Given the description of an element on the screen output the (x, y) to click on. 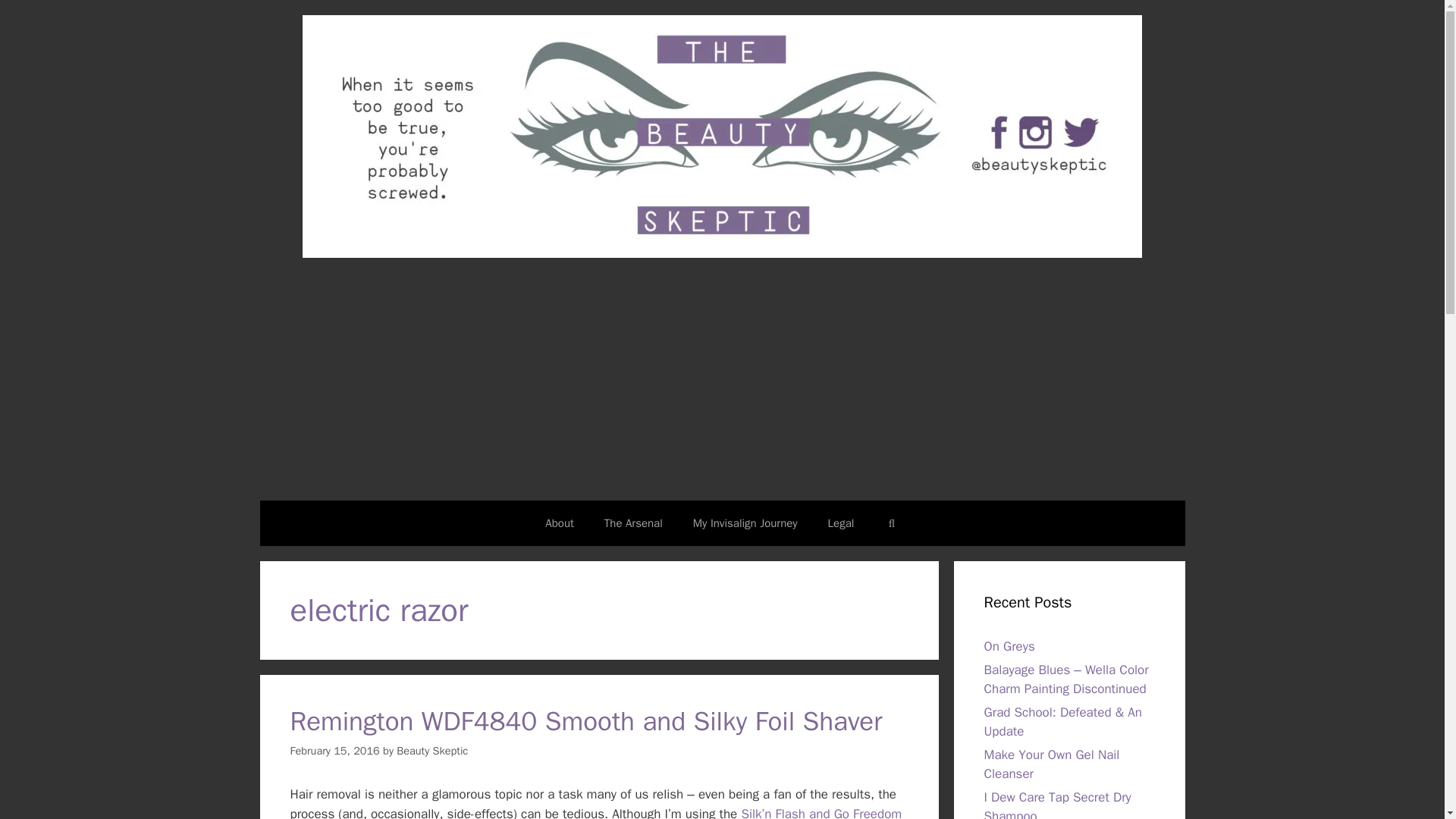
My Invisalign Journey (745, 523)
About (558, 523)
Remington WDF4840 Smooth and Silky Foil Shaver (585, 720)
Make Your Own Gel Nail Cleanser (1051, 764)
I Dew Care Tap Secret Dry Shampoo (1057, 803)
The Arsenal (633, 523)
Beauty Skeptic (431, 750)
View all posts by Beauty Skeptic (431, 750)
Legal (840, 523)
On Greys (1009, 646)
